Given the description of an element on the screen output the (x, y) to click on. 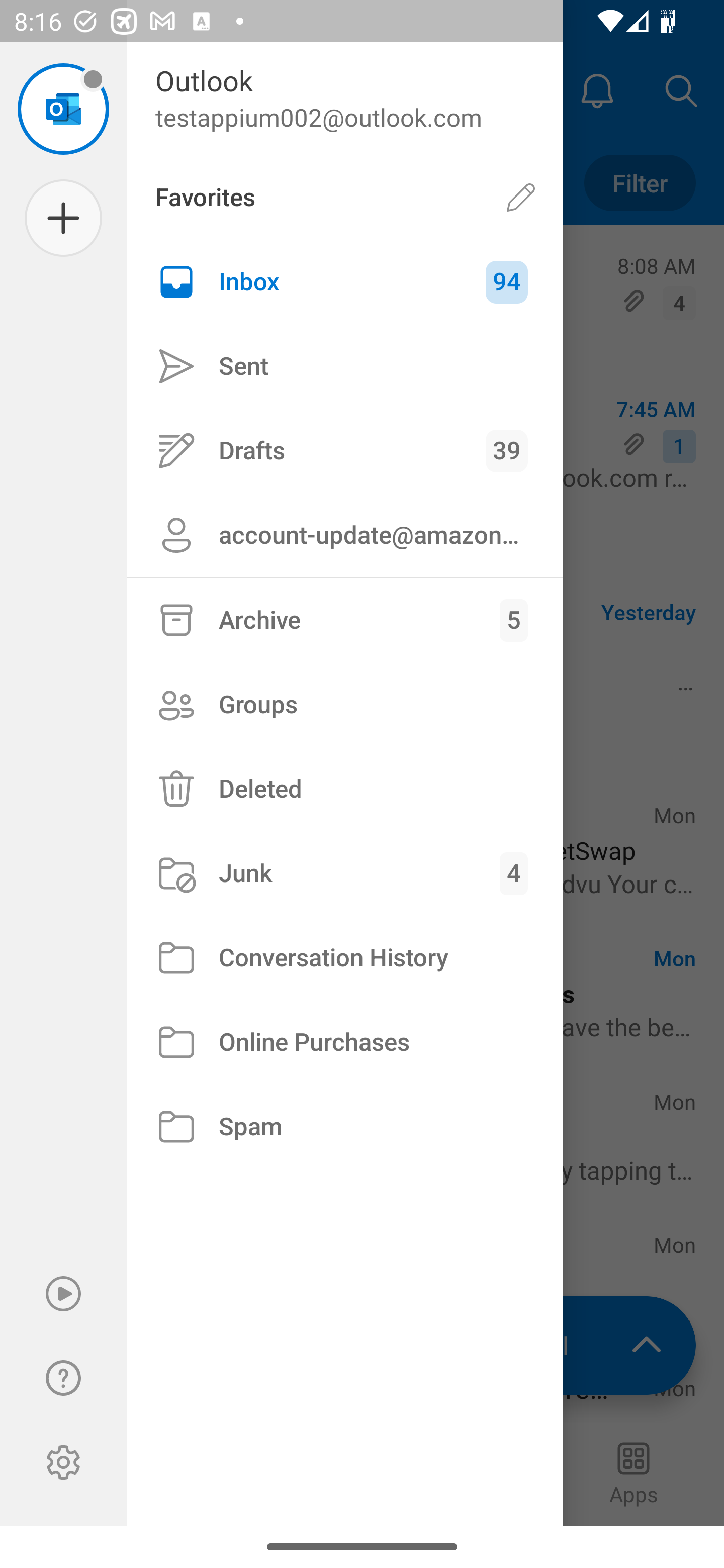
Edit favorites (520, 197)
Add account (63, 217)
Inbox Inbox, 94 unread emails,Selected (345, 281)
Sent (345, 366)
Drafts Drafts, 39 unread emails (345, 450)
account-update@amazon.com (345, 534)
Archive Archive, 2 of 8, level 1, 5 unread emails (345, 619)
Groups Groups, 3 of 8, level 1 (345, 703)
Deleted Deleted, 4 of 8, level 1 (345, 788)
Junk Junk, 5 of 8, level 1, 4 unread emails (345, 873)
Online Purchases Online Purchases, 7 of 8, level 1 (345, 1042)
Spam Spam, 8 of 8, level 1 (345, 1127)
Play My Emails (62, 1293)
Help (62, 1377)
Settings (62, 1462)
